Given the description of an element on the screen output the (x, y) to click on. 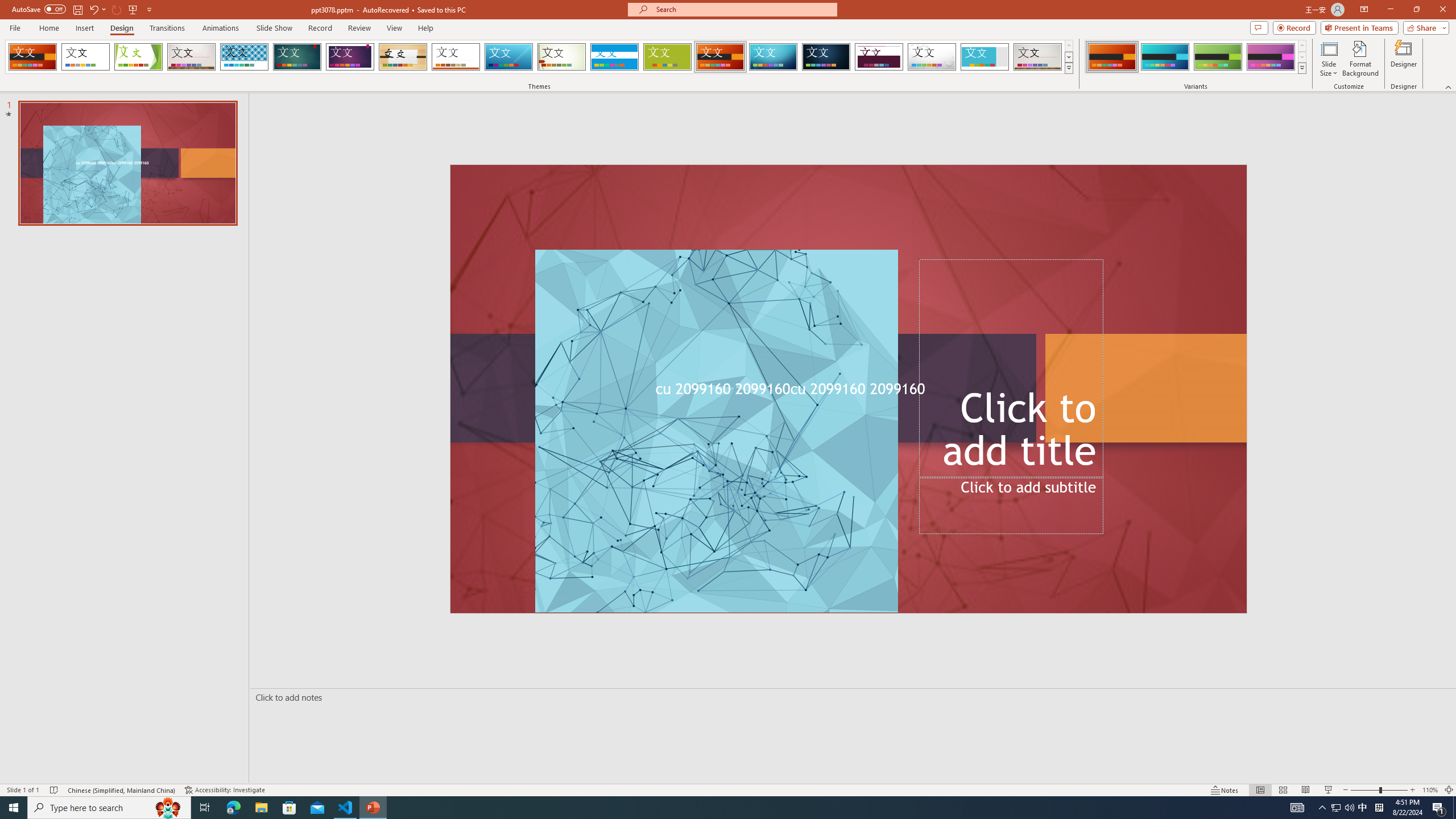
Damask (826, 56)
Basis (667, 56)
Berlin (720, 56)
Circuit (772, 56)
Berlin Variant 3 (1217, 56)
Ion Boardroom (350, 56)
